Given the description of an element on the screen output the (x, y) to click on. 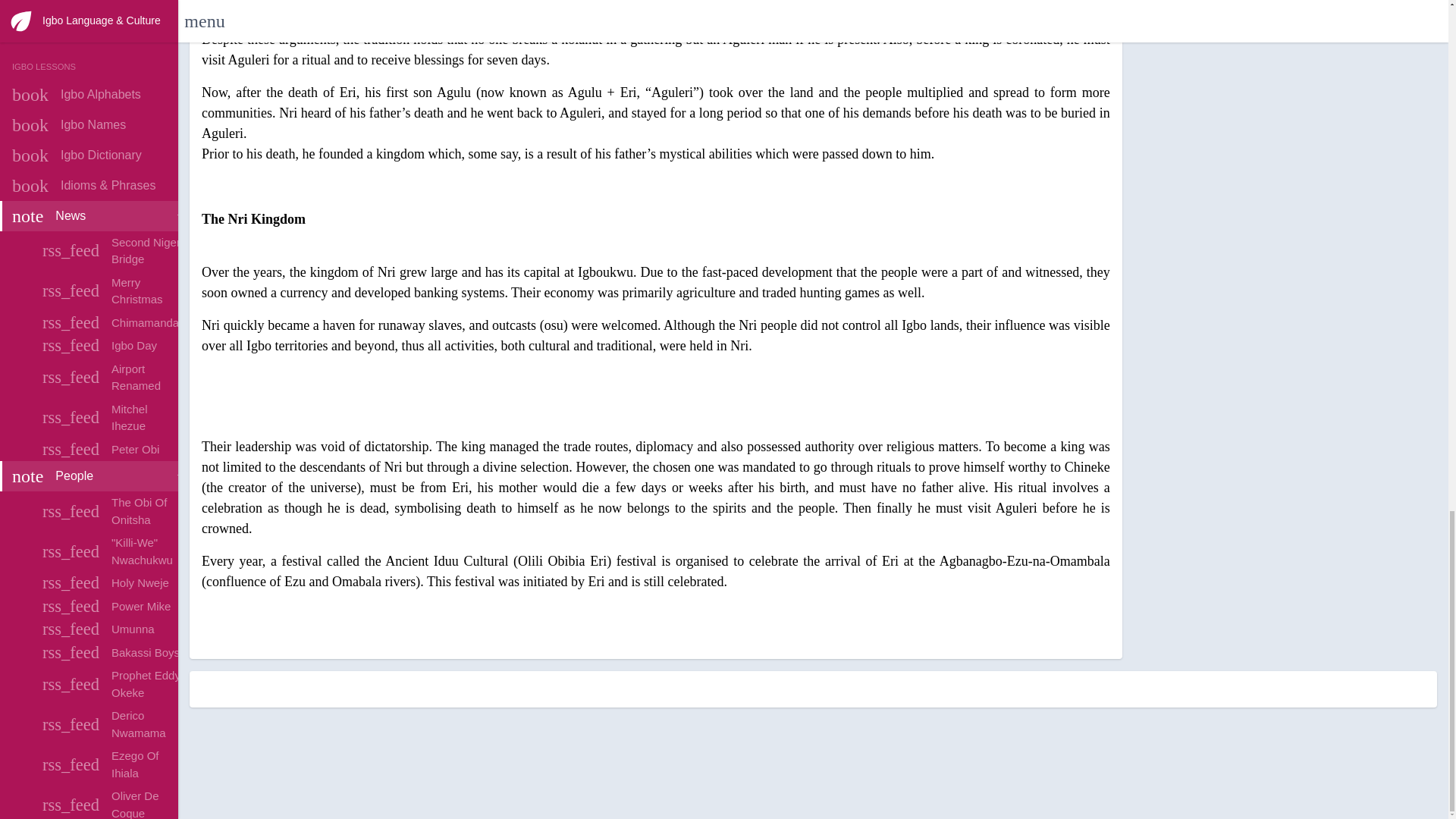
Advertisement (655, 402)
Advertisement (813, 761)
